Given the description of an element on the screen output the (x, y) to click on. 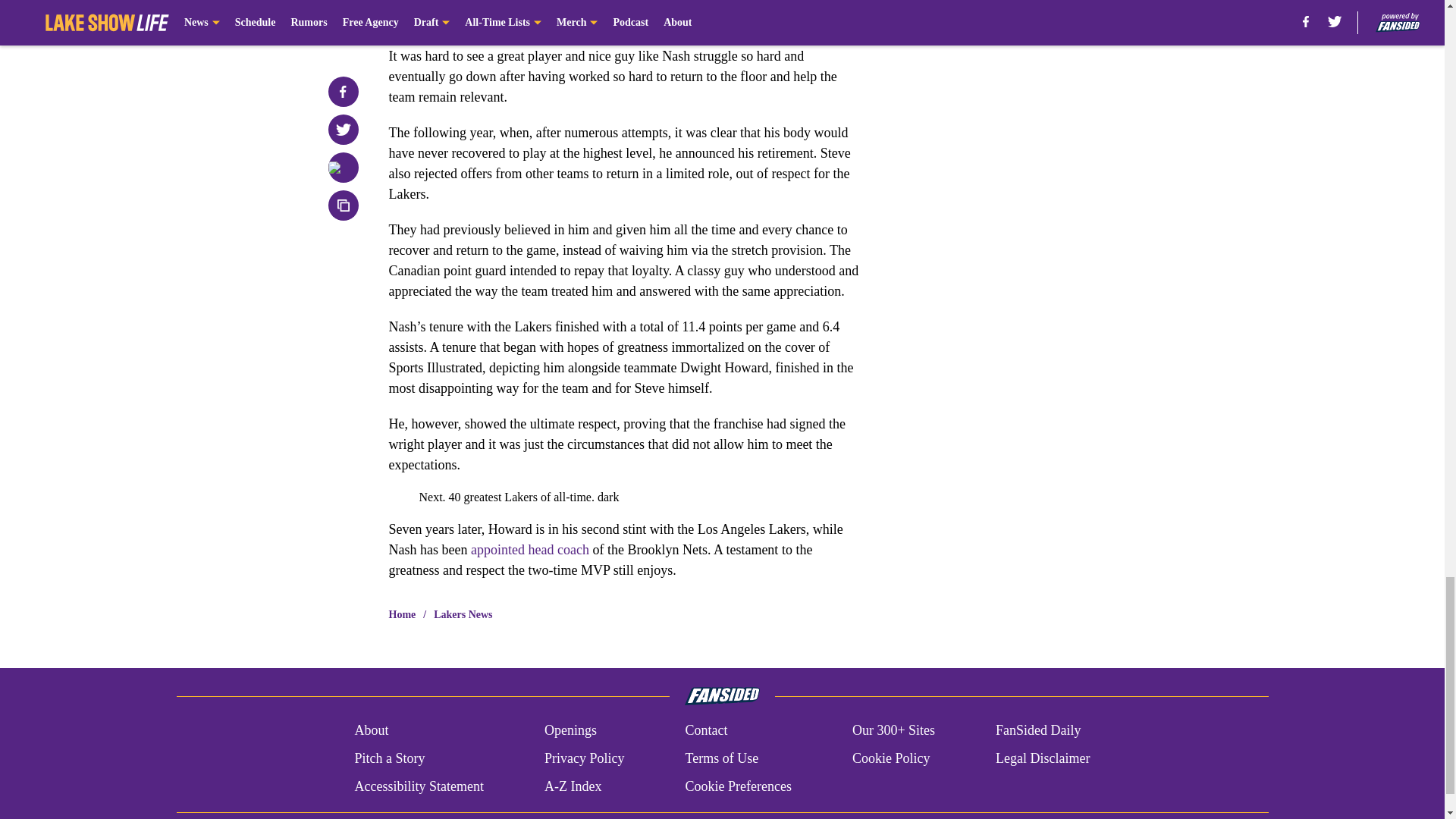
appointed head coach (529, 549)
Lakers News (462, 614)
Home (401, 614)
